Given the description of an element on the screen output the (x, y) to click on. 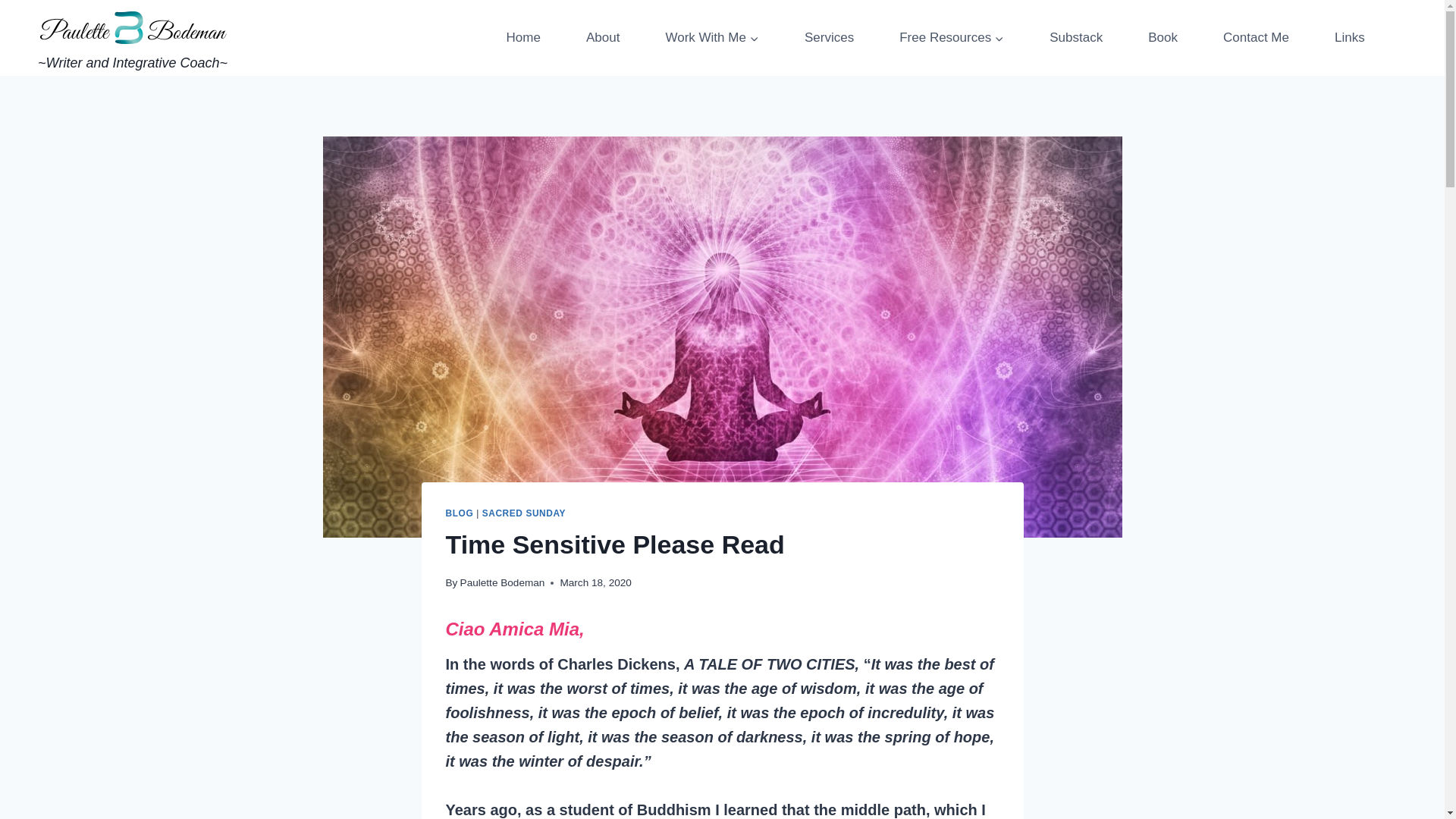
Free Resources (951, 37)
SACRED SUNDAY (523, 512)
Book (1162, 37)
Work With Me (712, 37)
Home (522, 37)
Paulette Bodeman (502, 582)
Services (828, 37)
Substack (1075, 37)
BLOG (459, 512)
Links (1349, 37)
